Given the description of an element on the screen output the (x, y) to click on. 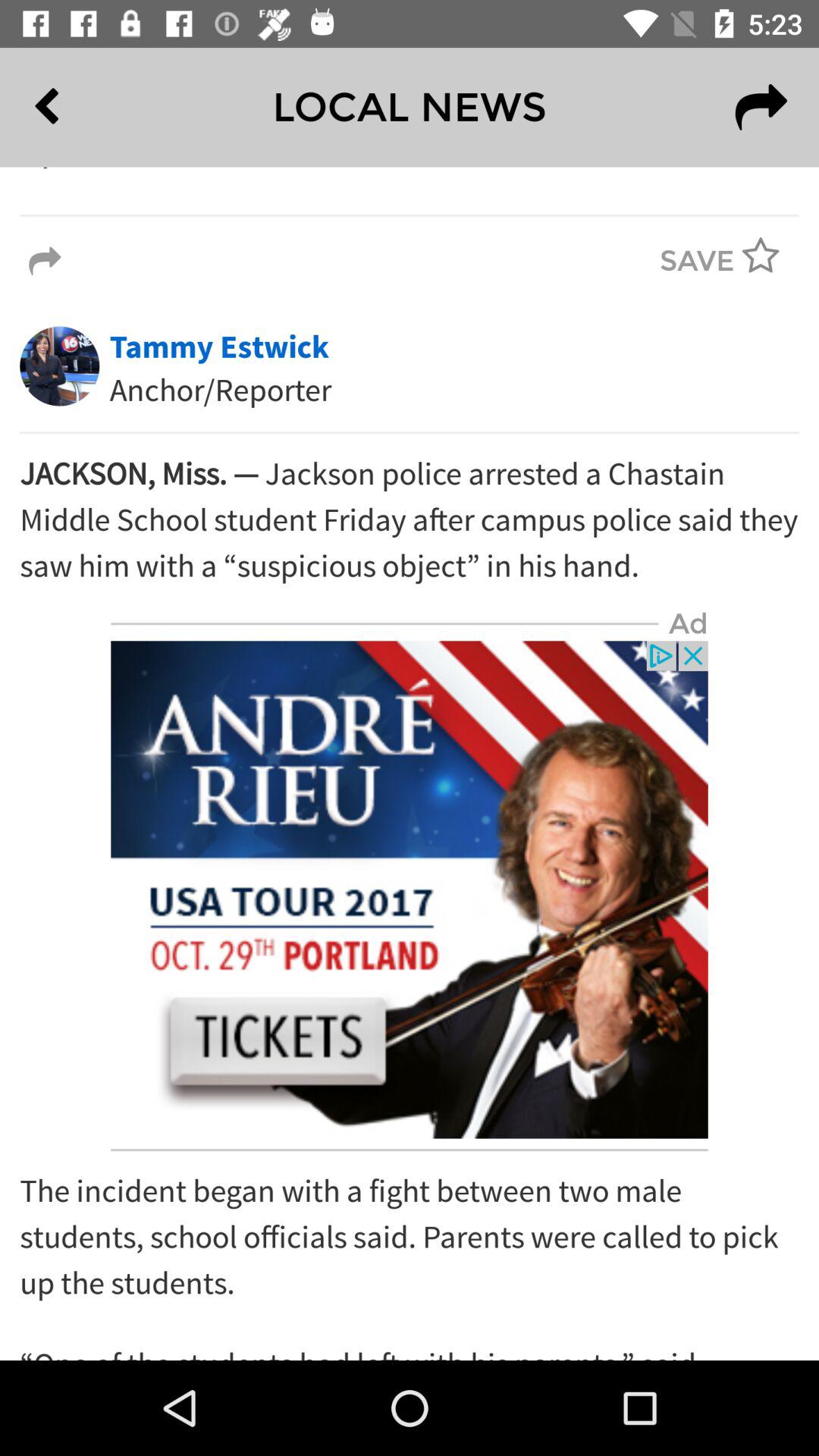
image link to advertisement (409, 889)
